Given the description of an element on the screen output the (x, y) to click on. 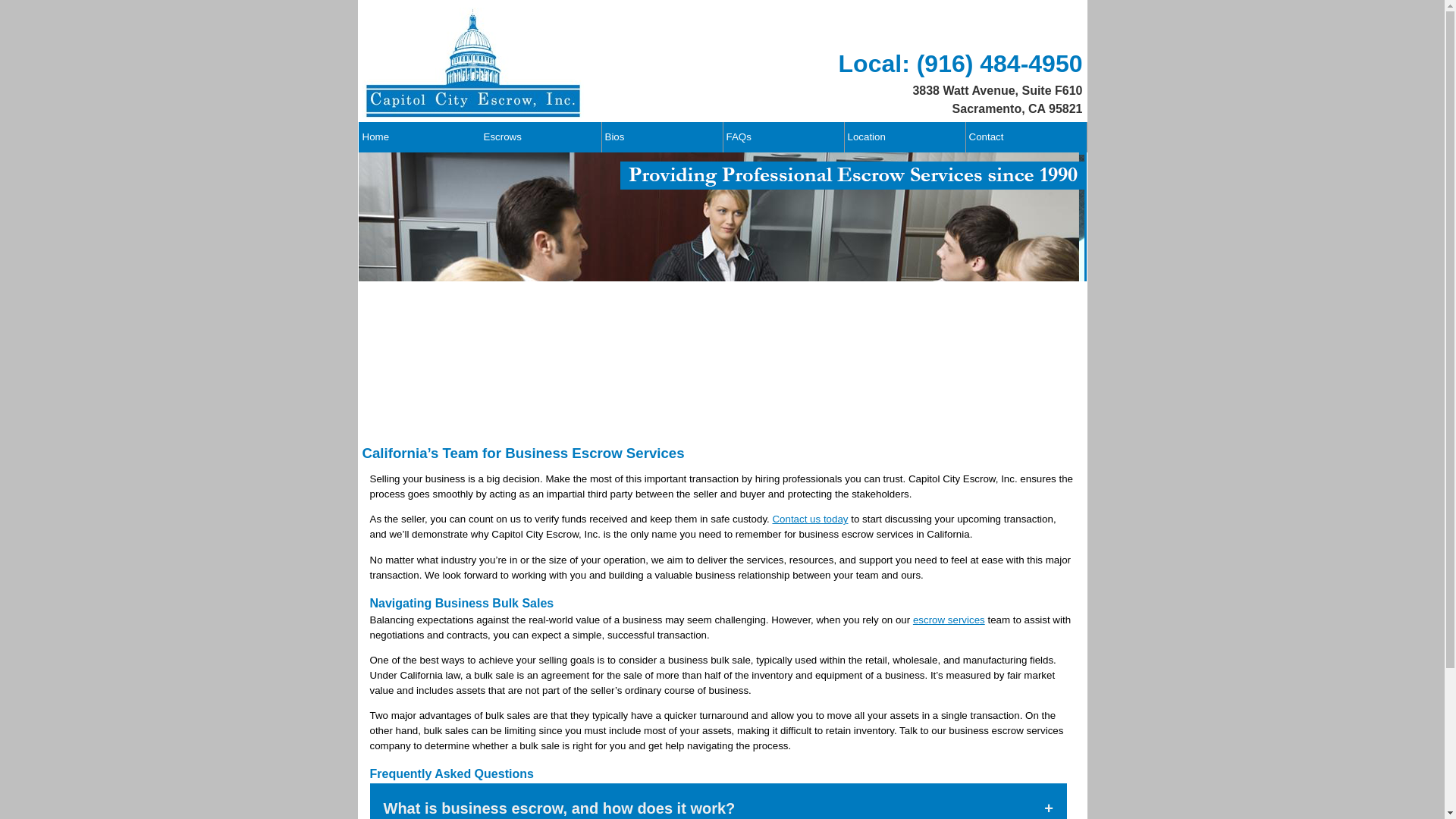
Escrows (539, 137)
Home (418, 137)
Location (903, 137)
FAQs (782, 137)
Logo, Capitol City Escrow, Inc. - Escrow Services (472, 62)
escrow services (948, 619)
Contact (1024, 137)
Bios (660, 137)
Contact us today (809, 518)
